Given the description of an element on the screen output the (x, y) to click on. 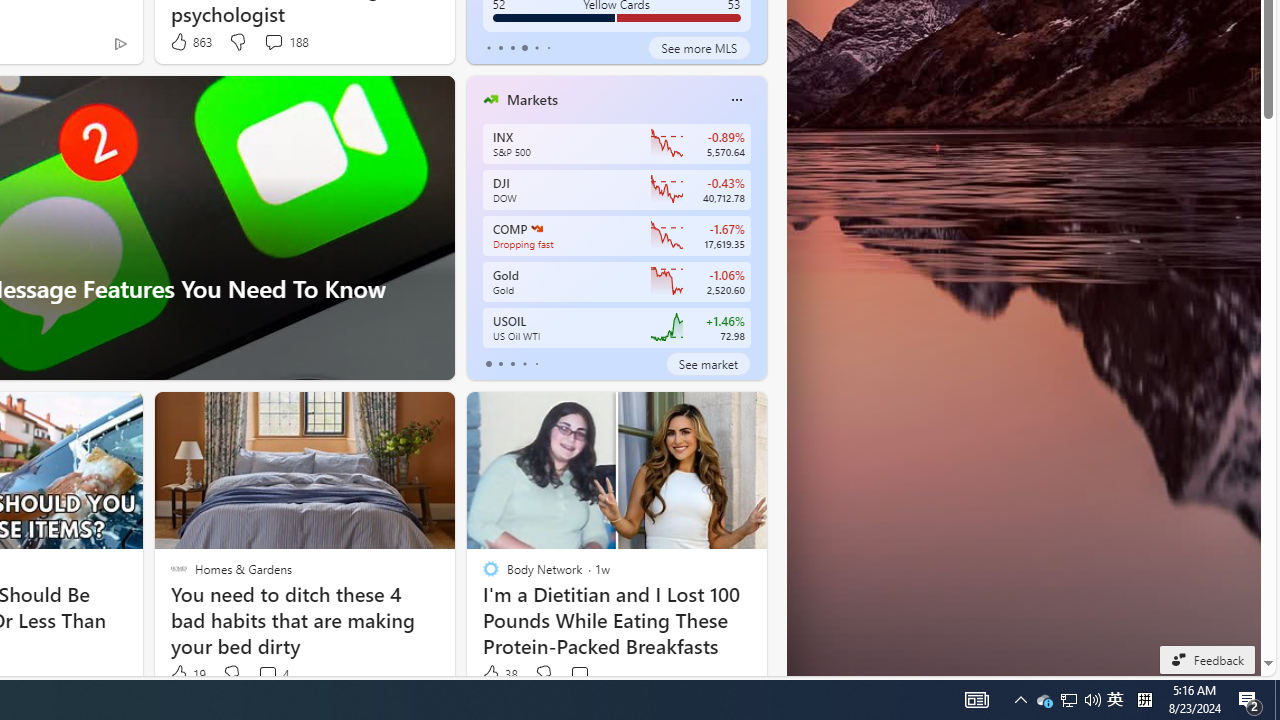
See market (708, 363)
View comments 4 Comment (272, 674)
tab-5 (548, 47)
Markets (531, 99)
tab-2 (511, 363)
863 Like (190, 42)
38 Like (499, 674)
tab-4 (535, 363)
